Given the description of an element on the screen output the (x, y) to click on. 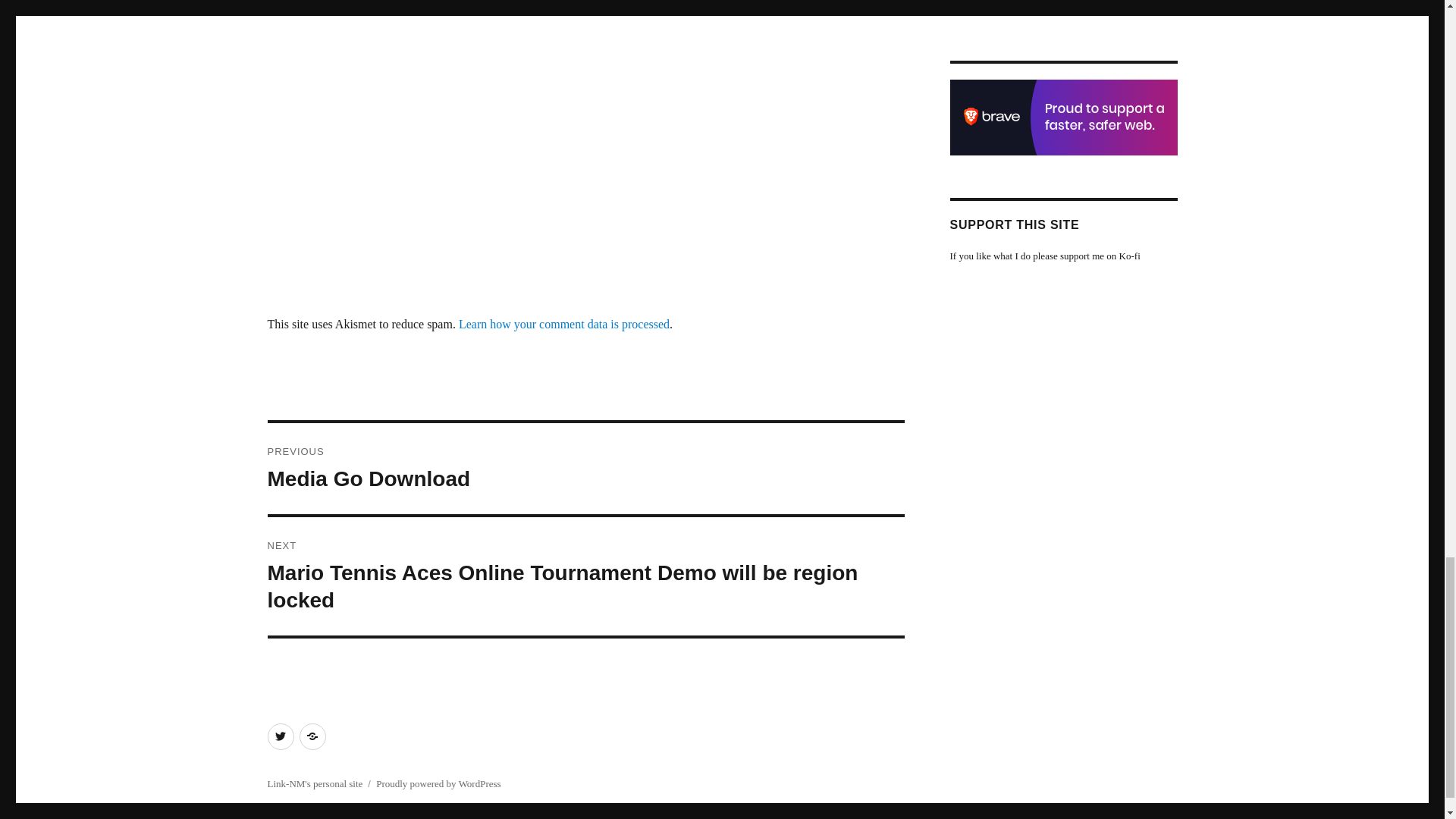
Learn how your comment data is processed (563, 323)
